Given the description of an element on the screen output the (x, y) to click on. 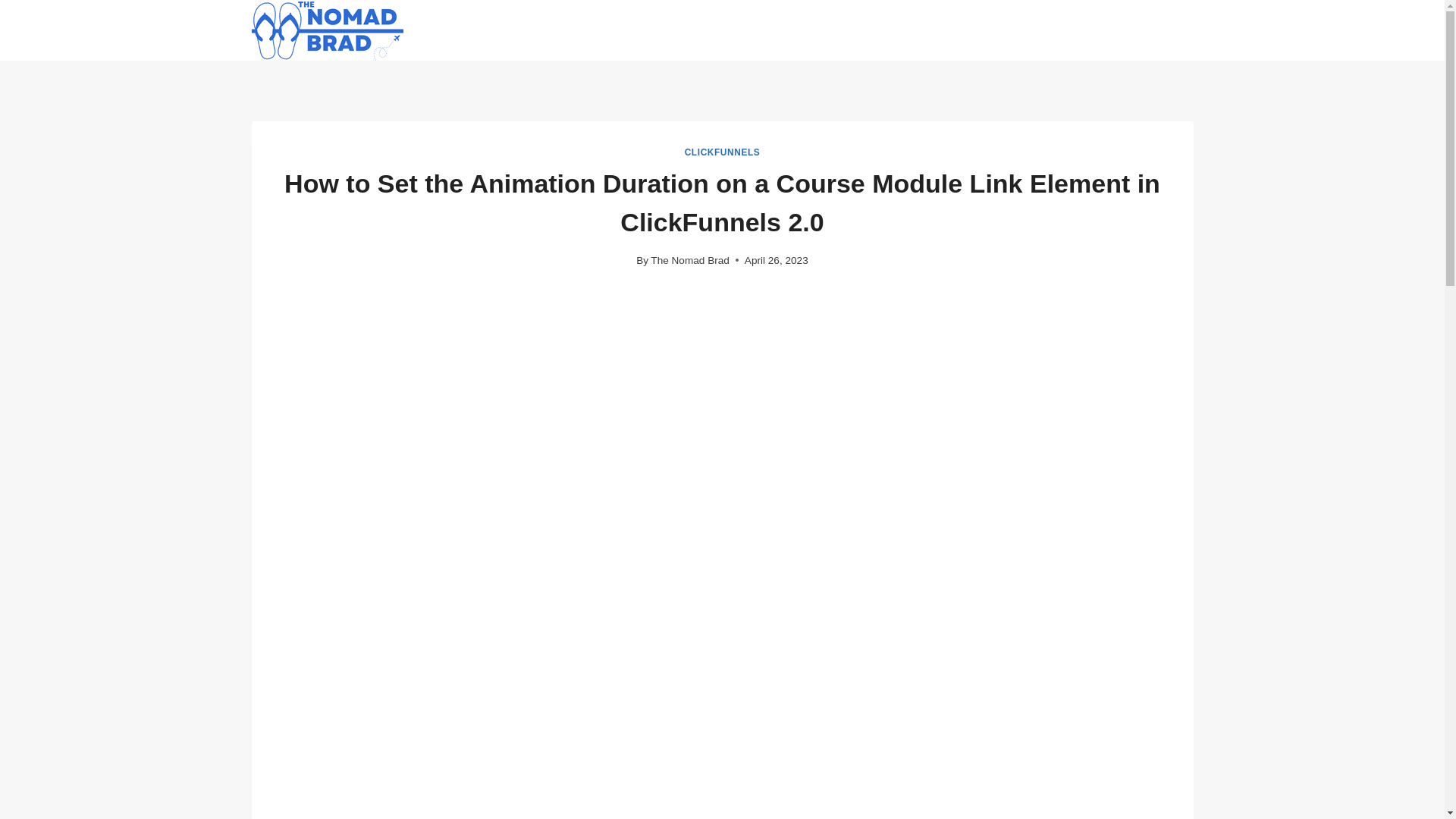
CLICKFUNNELS (722, 152)
The Nomad Brad (689, 260)
